Given the description of an element on the screen output the (x, y) to click on. 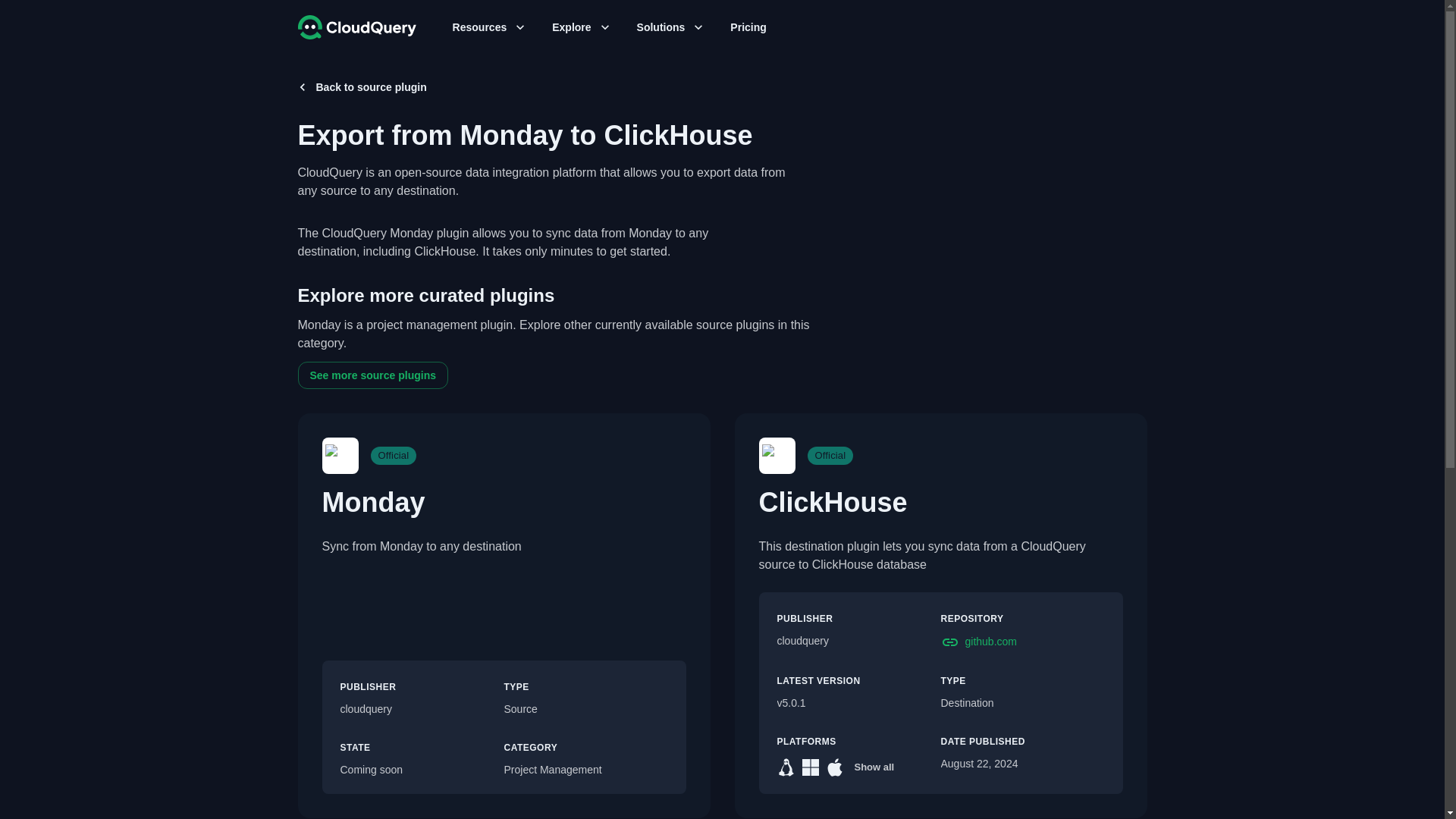
cloudquery (421, 709)
Coming soon (421, 770)
See more source plugins (372, 375)
Project Management (584, 770)
cloudquery (858, 641)
github.com (1021, 642)
Source (584, 709)
Show all (873, 766)
All supported platforms (873, 766)
v5.0.1 (858, 703)
